Given the description of an element on the screen output the (x, y) to click on. 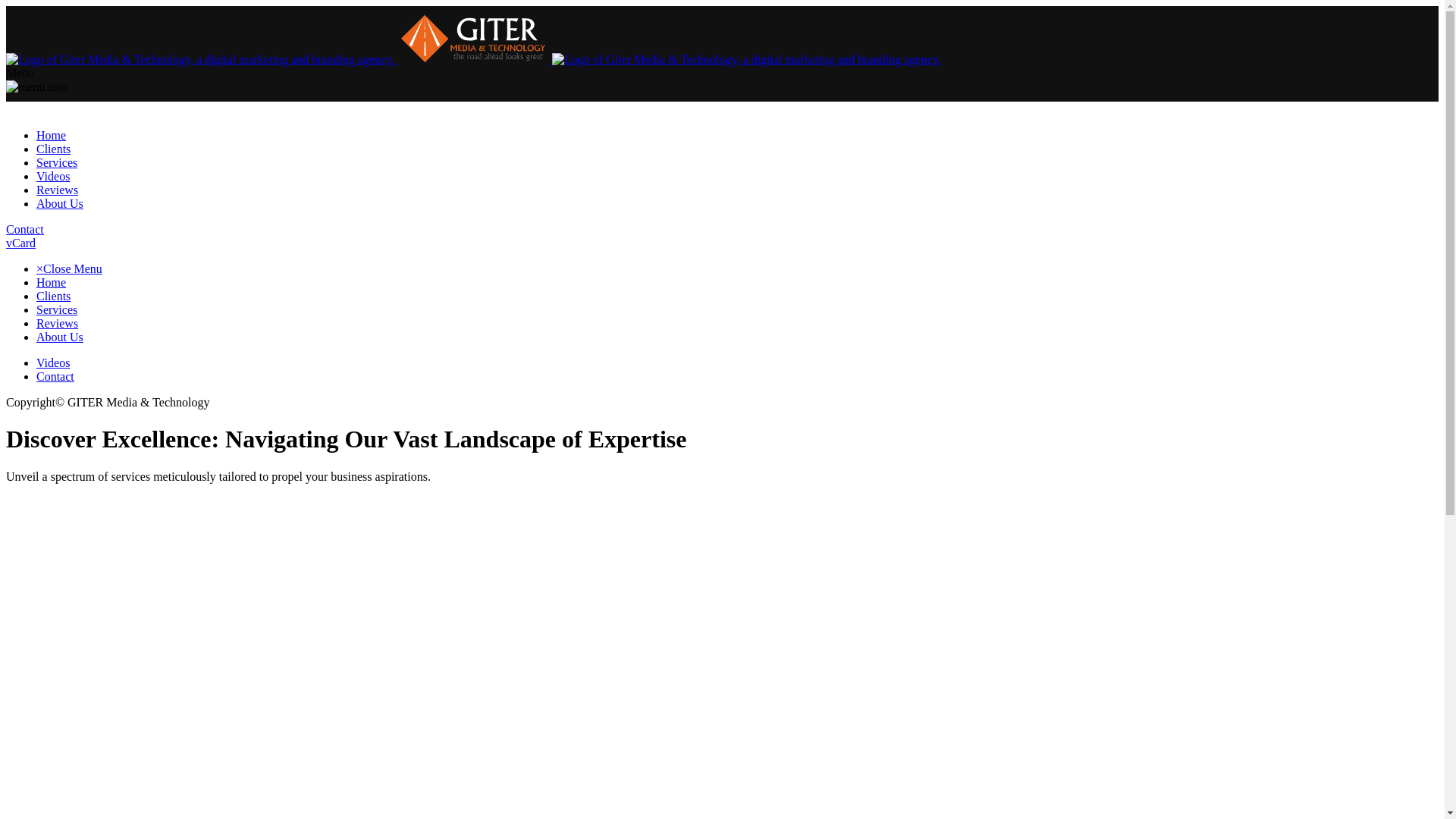
Services (56, 162)
Home (50, 134)
Clients (52, 148)
vCard (19, 242)
Home (50, 282)
Videos (52, 175)
About Us (59, 336)
Clients (52, 295)
Contact (24, 228)
Reviews (57, 189)
Reviews (57, 323)
Videos (52, 362)
Services (56, 309)
Contact (55, 376)
About Us (59, 203)
